Given the description of an element on the screen output the (x, y) to click on. 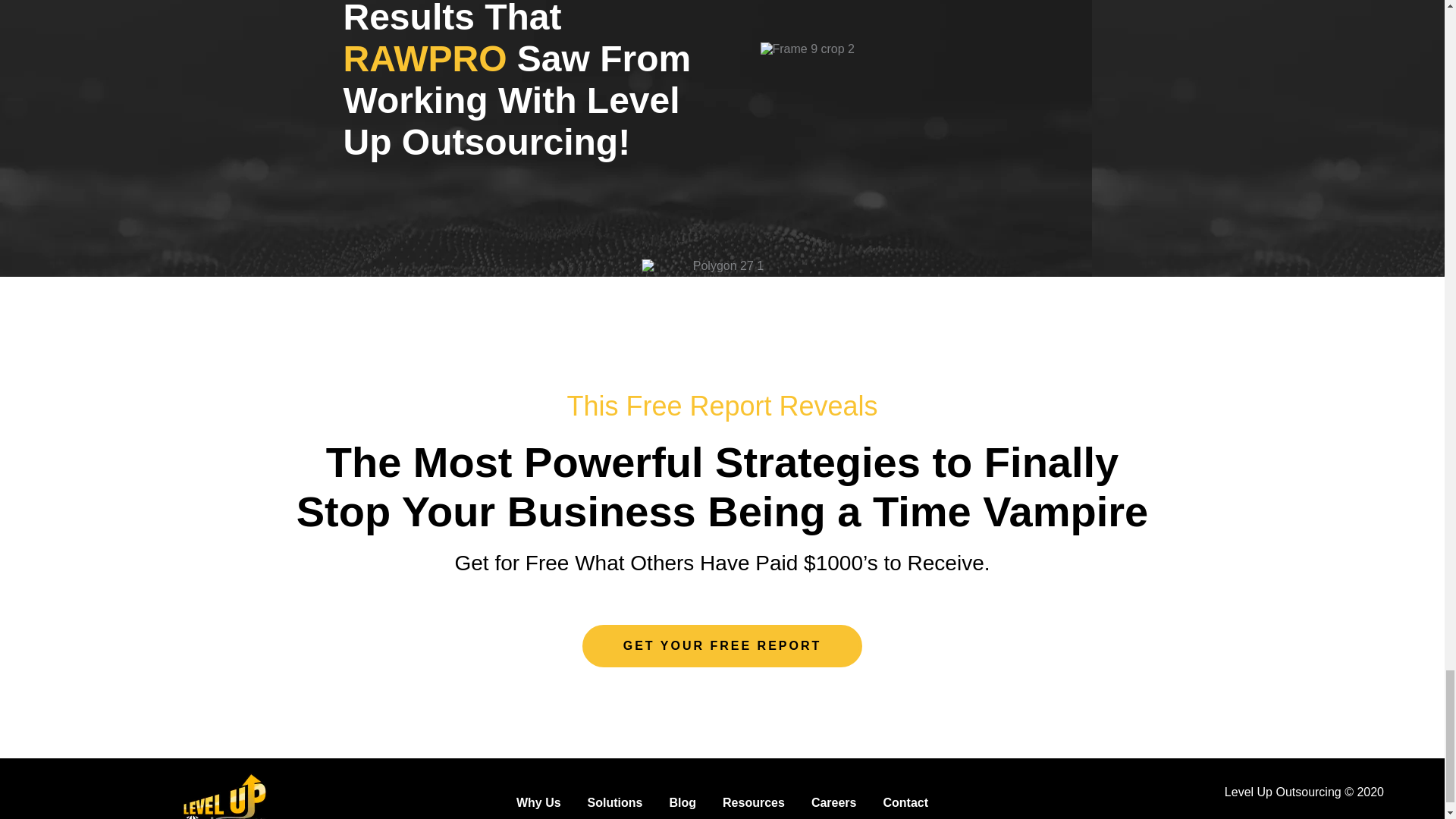
Resources (753, 801)
Careers (833, 801)
Why Us (538, 801)
GET YOUR FREE REPORT (722, 645)
Contact (905, 801)
Solutions (615, 801)
